Given the description of an element on the screen output the (x, y) to click on. 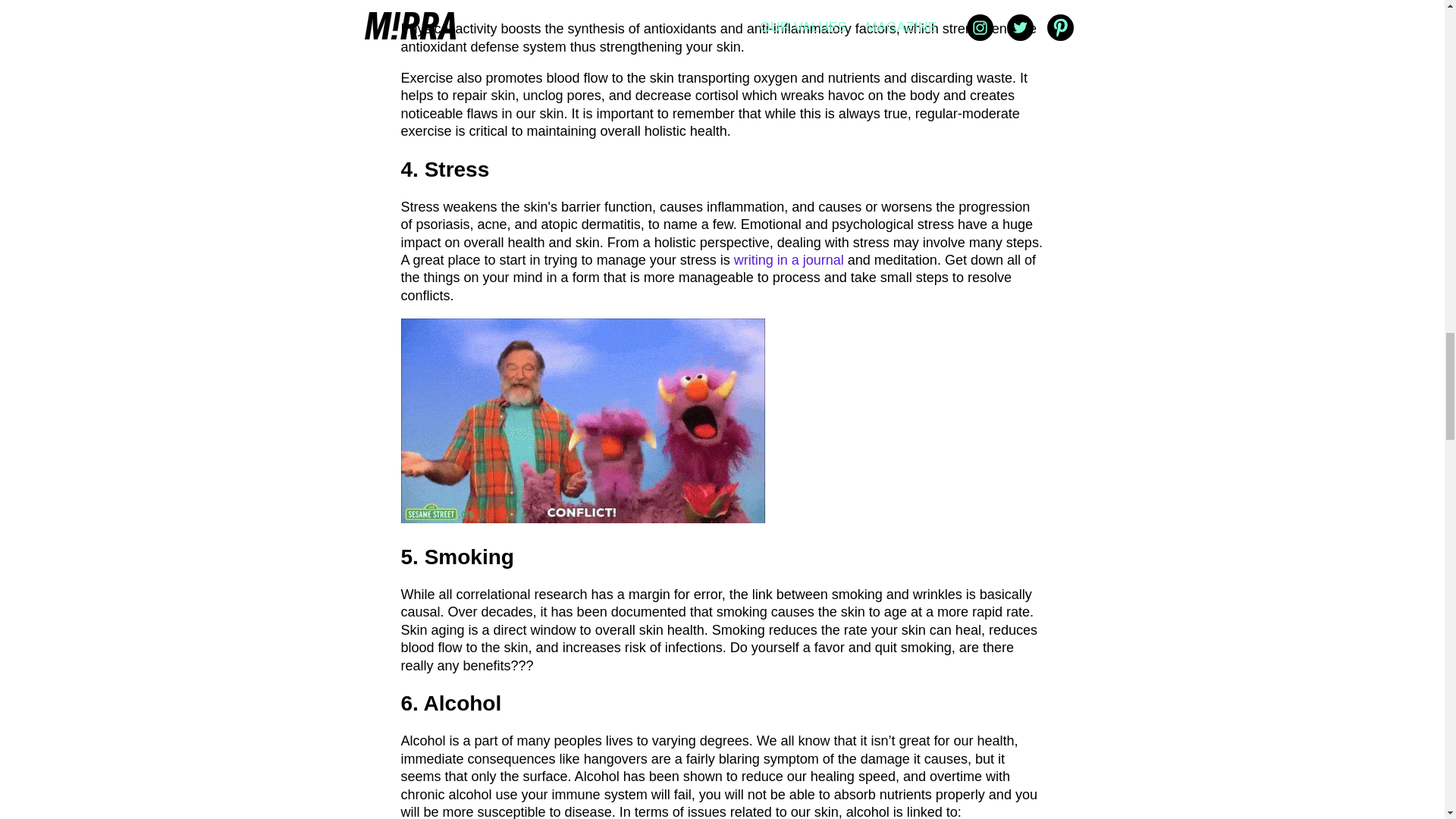
writing in a journal (788, 259)
